Given the description of an element on the screen output the (x, y) to click on. 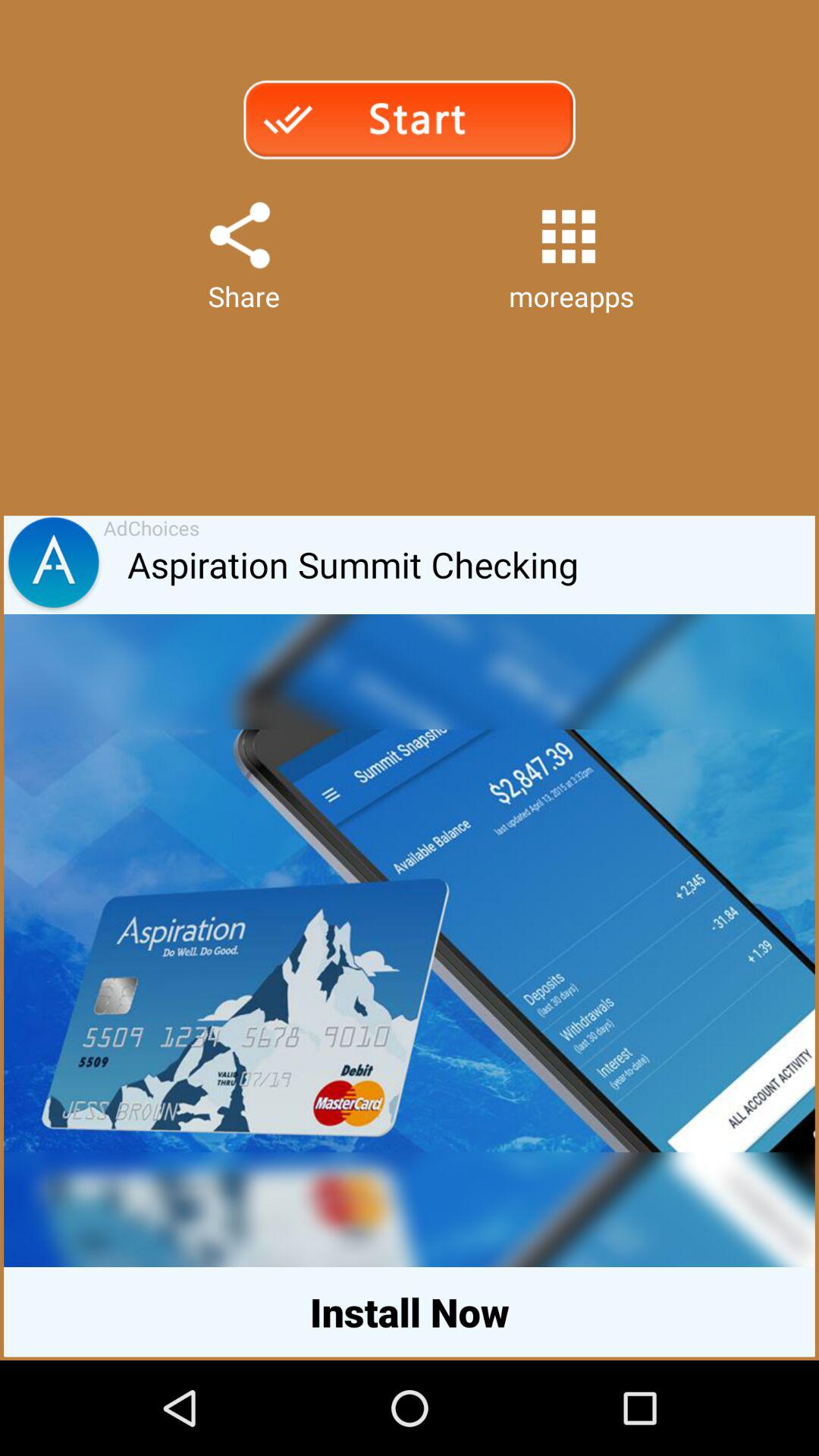
turn on the aspiration summit checking app (471, 564)
